Given the description of an element on the screen output the (x, y) to click on. 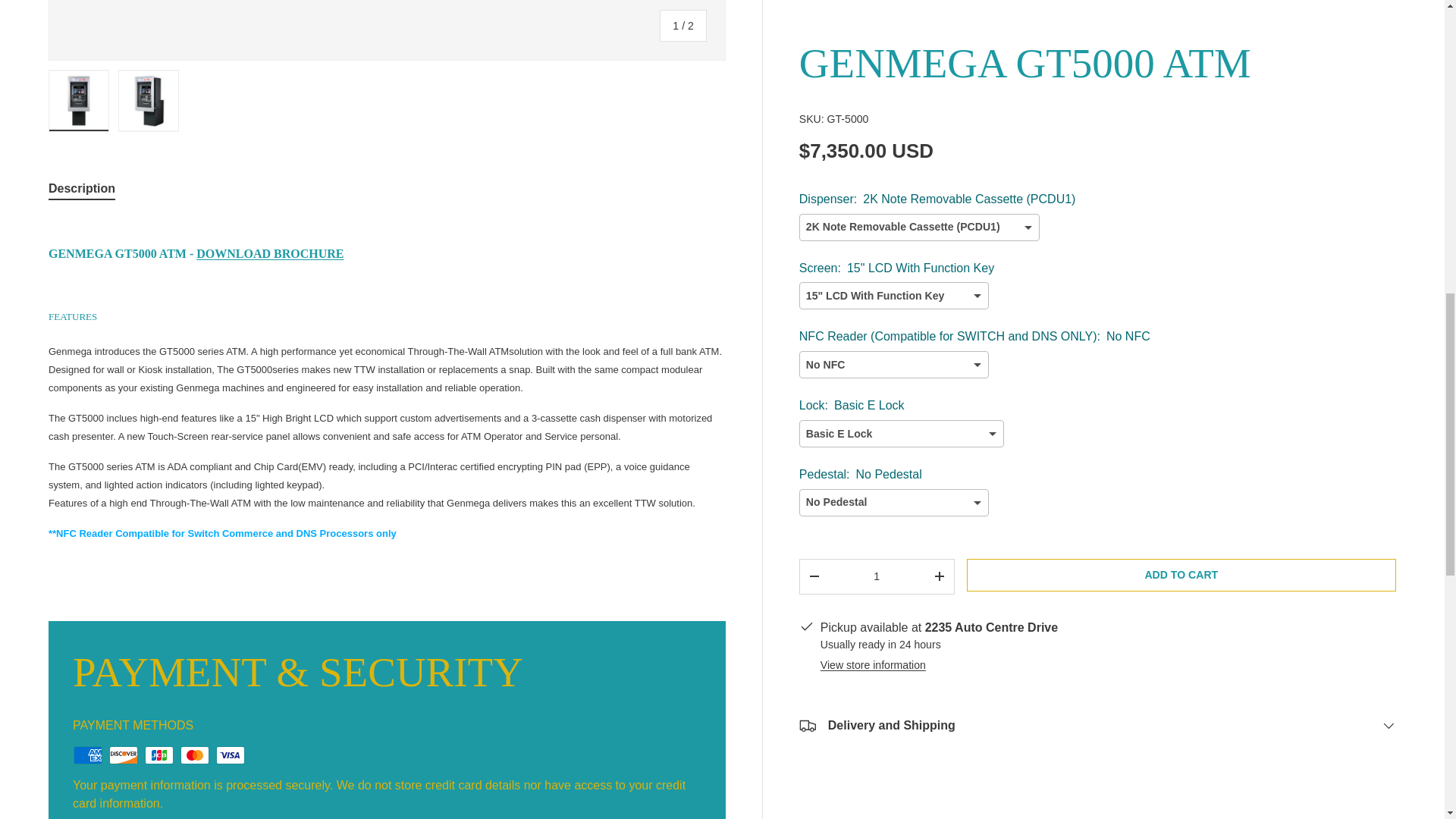
Description (386, 188)
